Given the description of an element on the screen output the (x, y) to click on. 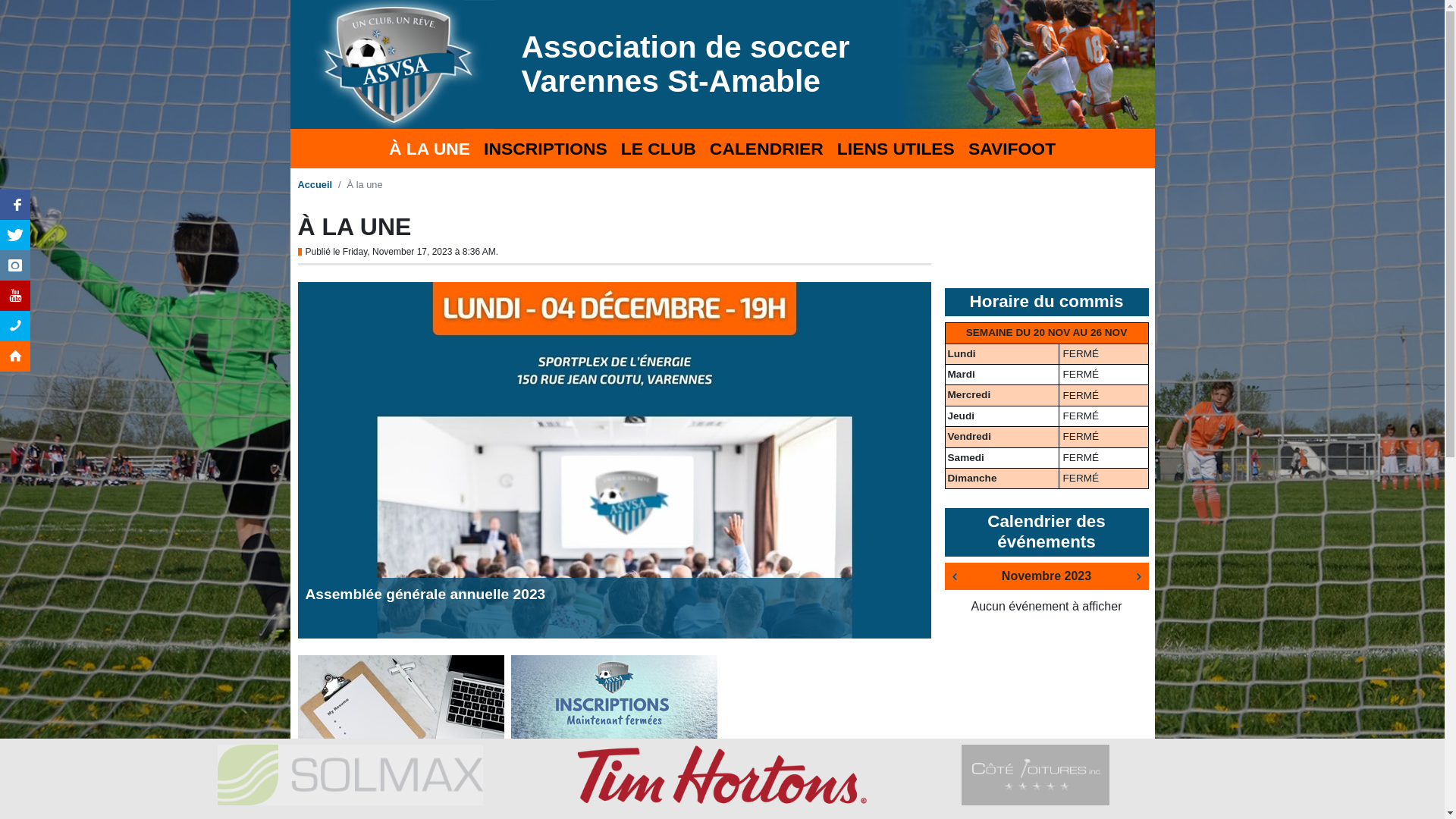
LIENS UTILES Element type: text (895, 148)
LE CLUB Element type: text (658, 148)
AUTOMNE/HIVER 2023-24 Element type: text (600, 786)
ASVSA - Offres d'emploi Element type: text (381, 786)
SAVIFOOT Element type: text (1011, 148)
INSCRIPTIONS Element type: text (545, 148)
CALENDRIER Element type: text (766, 148)
Accueil Element type: text (314, 184)
